Given the description of an element on the screen output the (x, y) to click on. 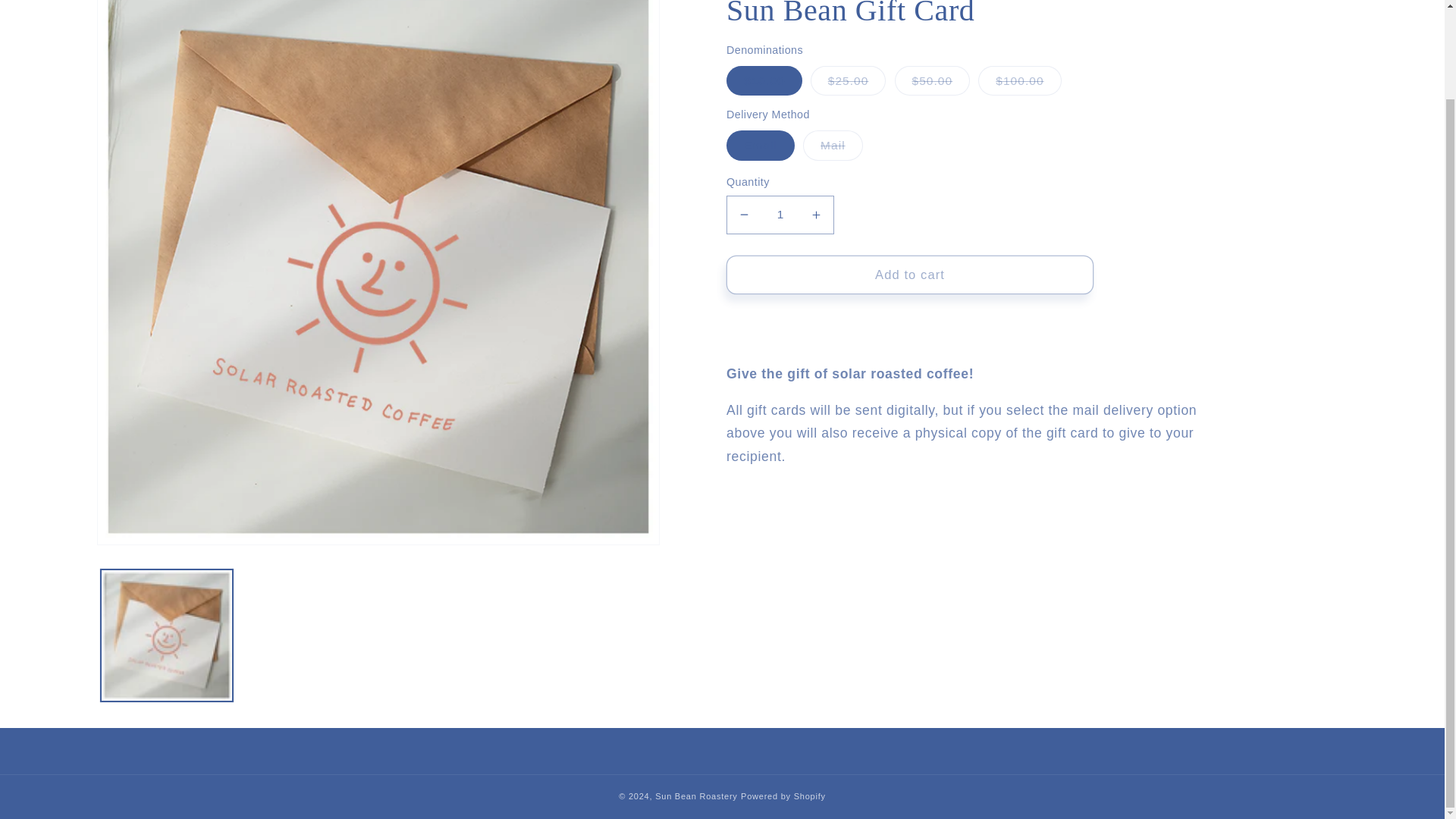
1 (780, 215)
Powered by Shopify (783, 795)
Sun Bean Roastery (695, 795)
Skip to product information (146, 9)
Add to cart (909, 274)
